Given the description of an element on the screen output the (x, y) to click on. 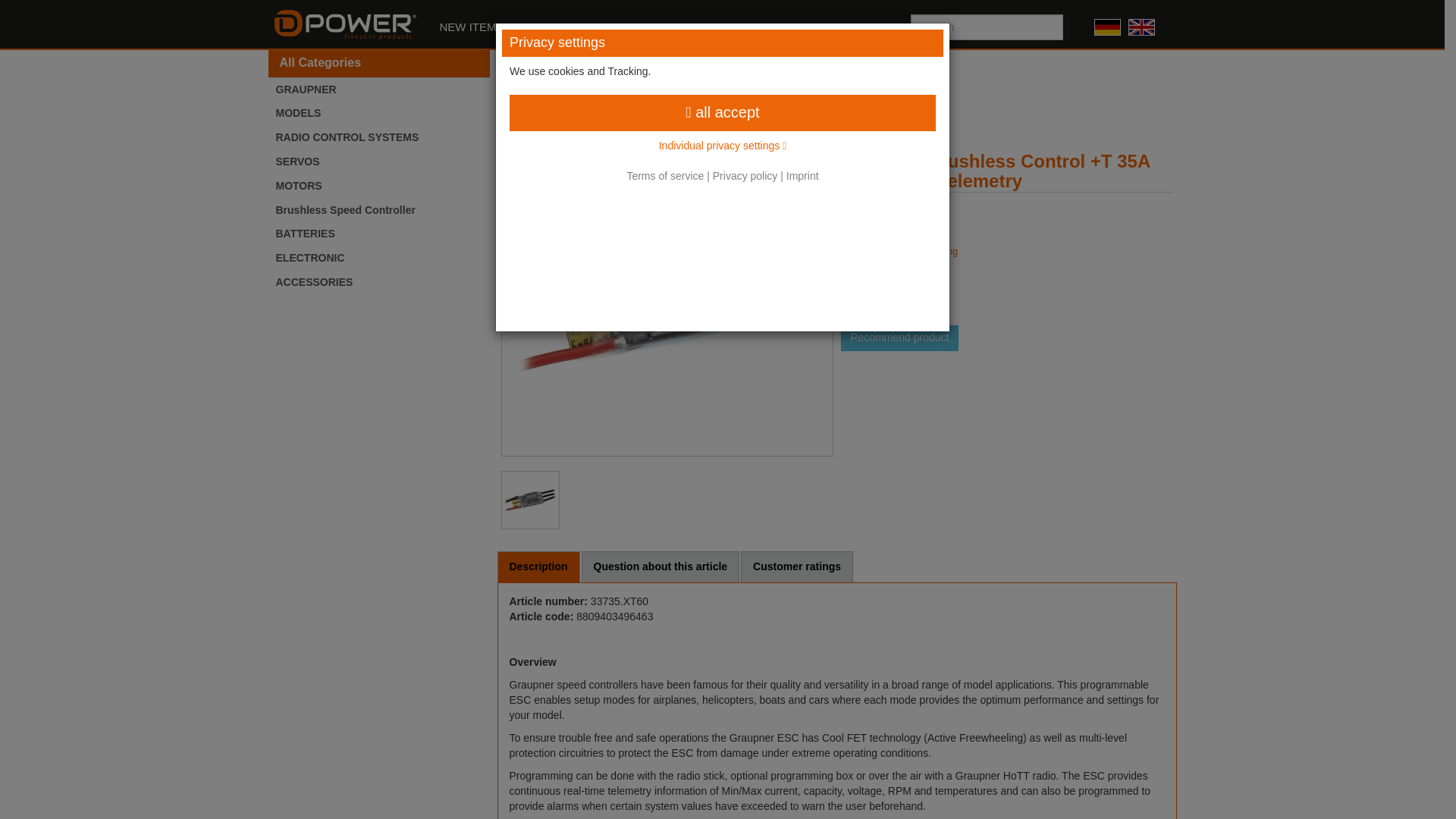
NEWS (726, 26)
Recommend product (899, 338)
SUPPORT (651, 26)
PRODUCTS (562, 26)
Deutsch (1107, 27)
B2B (860, 26)
Englisch (1141, 27)
RETAILER (796, 26)
NEW ITEMS (471, 26)
